Given the description of an element on the screen output the (x, y) to click on. 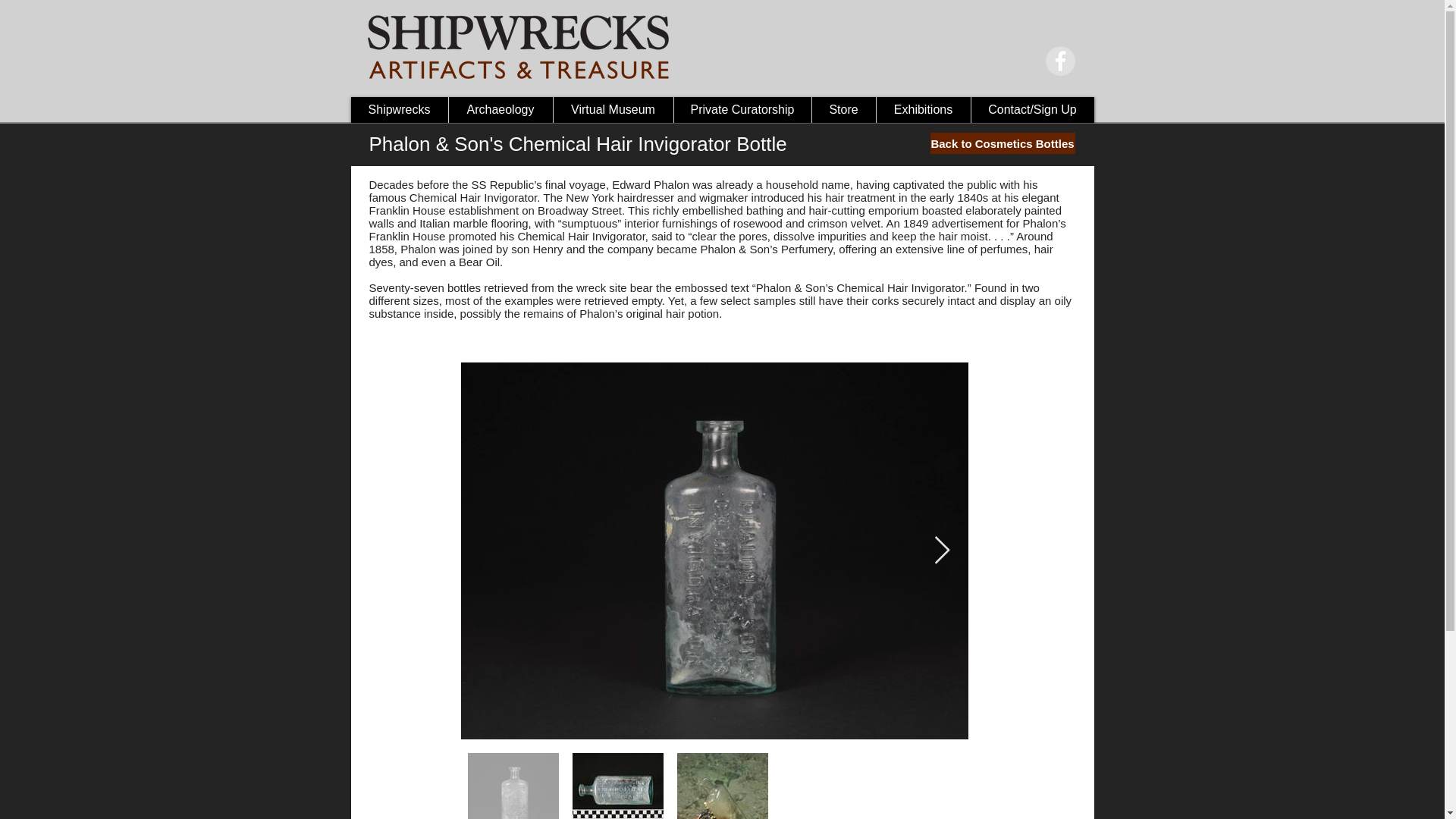
Back to Cosmetics Bottles (1002, 142)
Store (843, 109)
Archaeology (498, 109)
Private Curatorship (741, 109)
Virtual Museum (611, 109)
Shipwrecks (398, 109)
Exhibitions (922, 109)
